Given the description of an element on the screen output the (x, y) to click on. 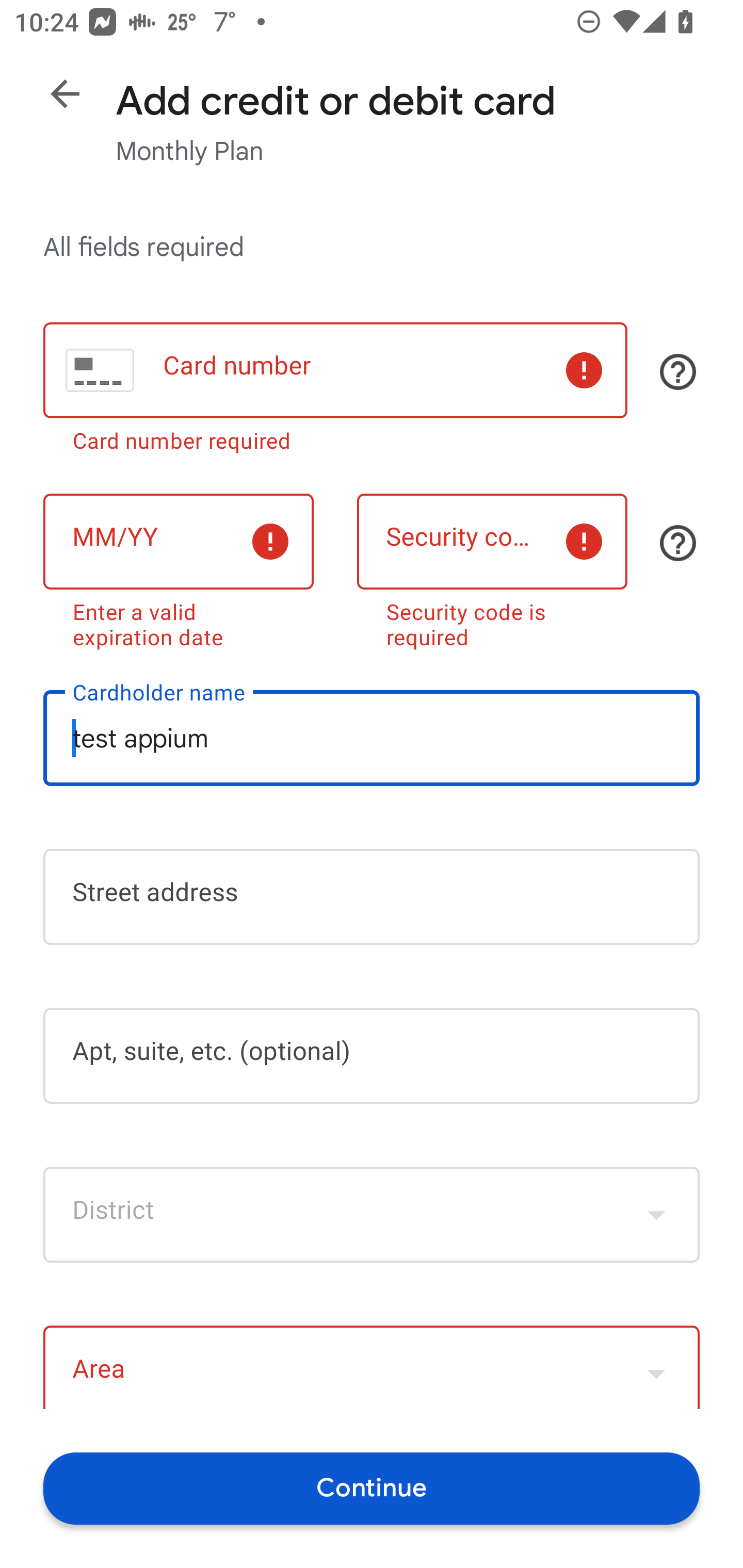
Back (64, 93)
Card number (335, 370)
Button, shows cards that are accepted for payment (677, 371)
Security code Error Security code is required (492, 567)
Expiration date, 2 digit month, 2 digit year (178, 541)
Security code (492, 541)
Security code help (677, 543)
test appium (371, 737)
Street address (371, 896)
Apt, suite, etc. (optional) (371, 1055)
District (371, 1214)
Show dropdown menu (655, 1214)
Area (371, 1366)
Show dropdown menu (655, 1369)
Continue (371, 1487)
